Given the description of an element on the screen output the (x, y) to click on. 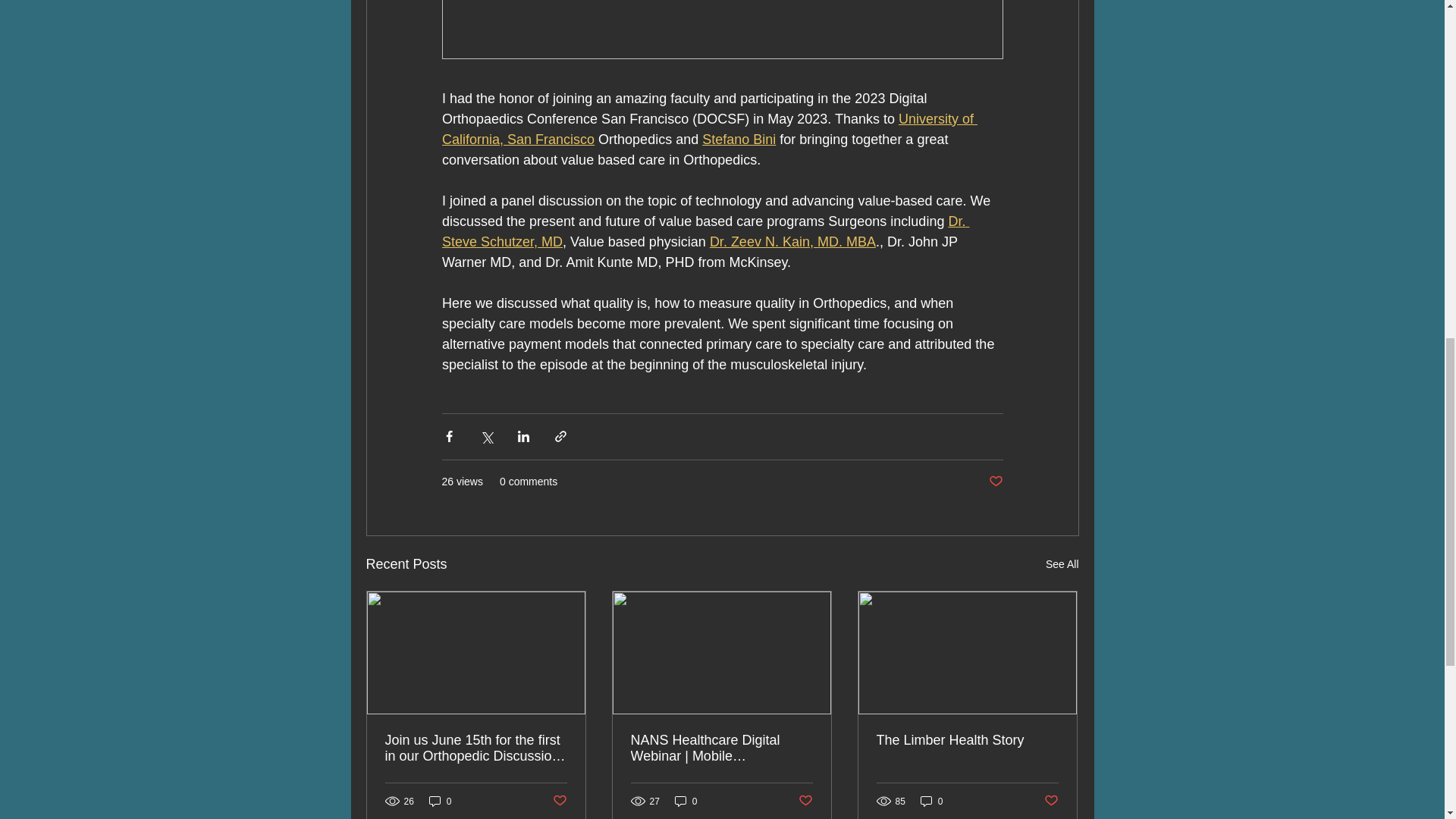
Post not marked as liked (995, 481)
Dr. Zeev N. Kain, MD. MBA (792, 241)
Dr. Steve Schutzer, MD (704, 231)
Stefano Bini (738, 139)
0 (685, 800)
See All (1061, 564)
0 (440, 800)
University of California, San Francisco (708, 129)
The Limber Health Story (967, 740)
